Given the description of an element on the screen output the (x, y) to click on. 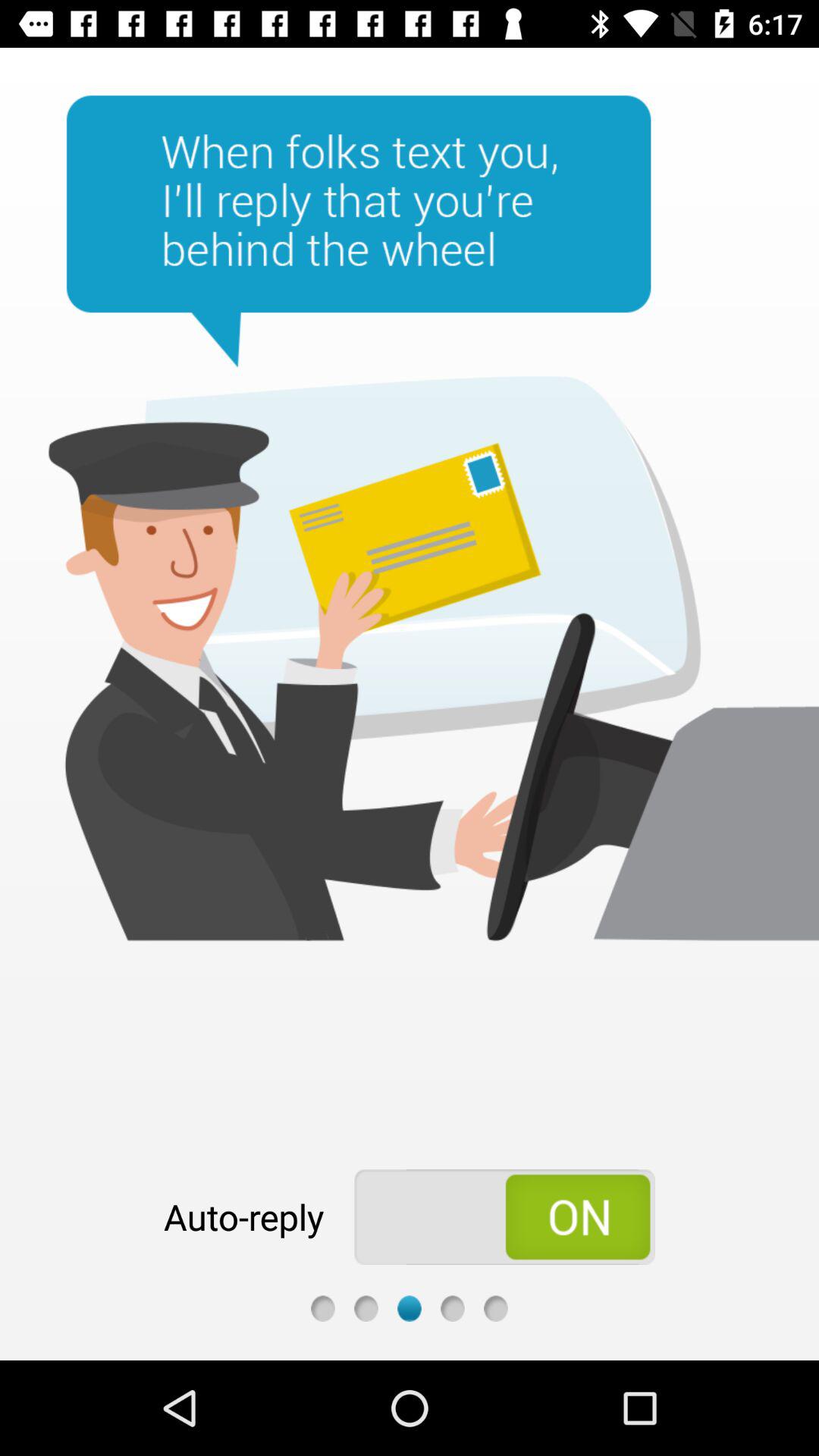
auto-reply option (504, 1216)
